Given the description of an element on the screen output the (x, y) to click on. 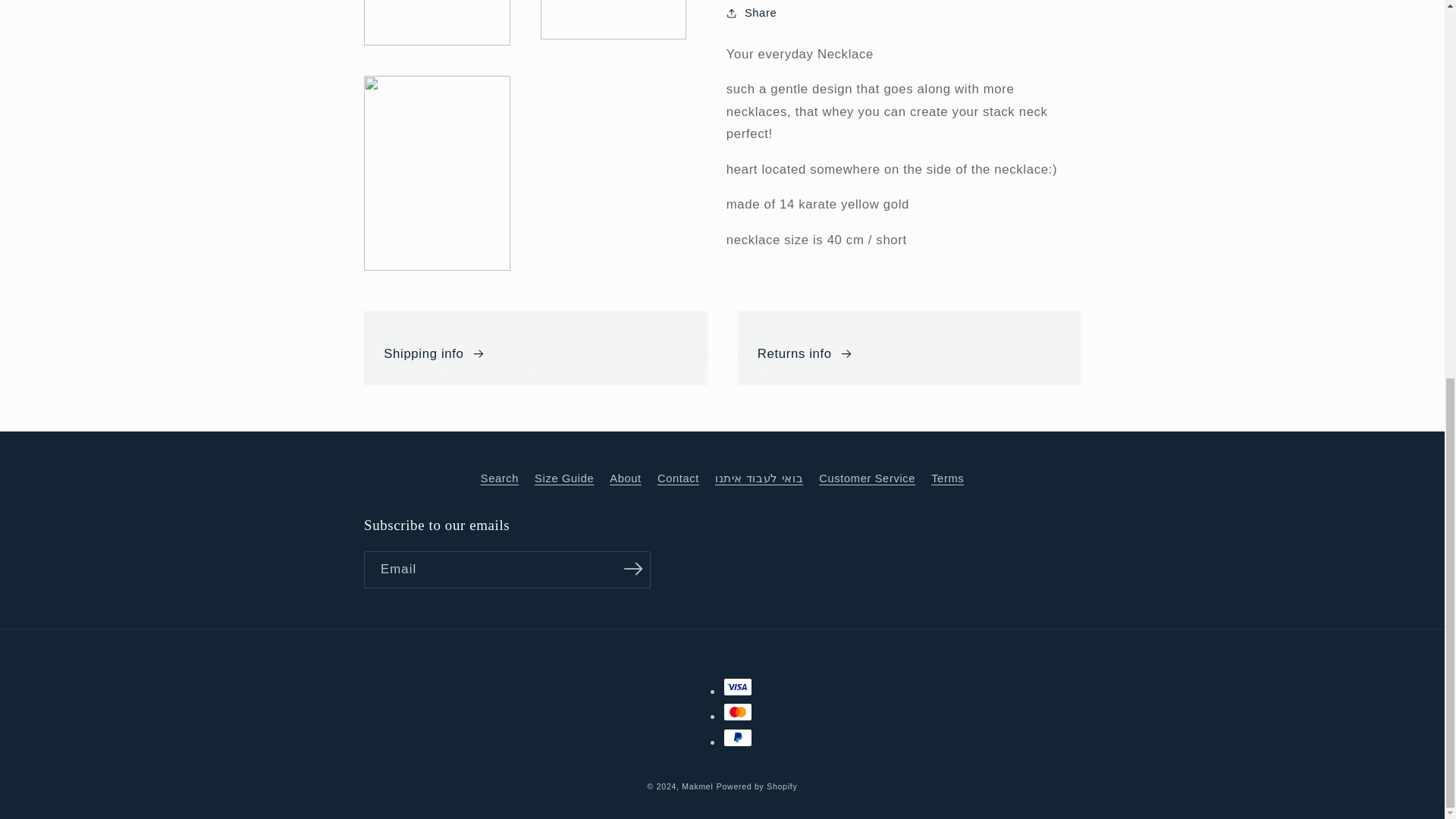
PayPal (737, 737)
Visa (737, 687)
Mastercard (737, 711)
